Given the description of an element on the screen output the (x, y) to click on. 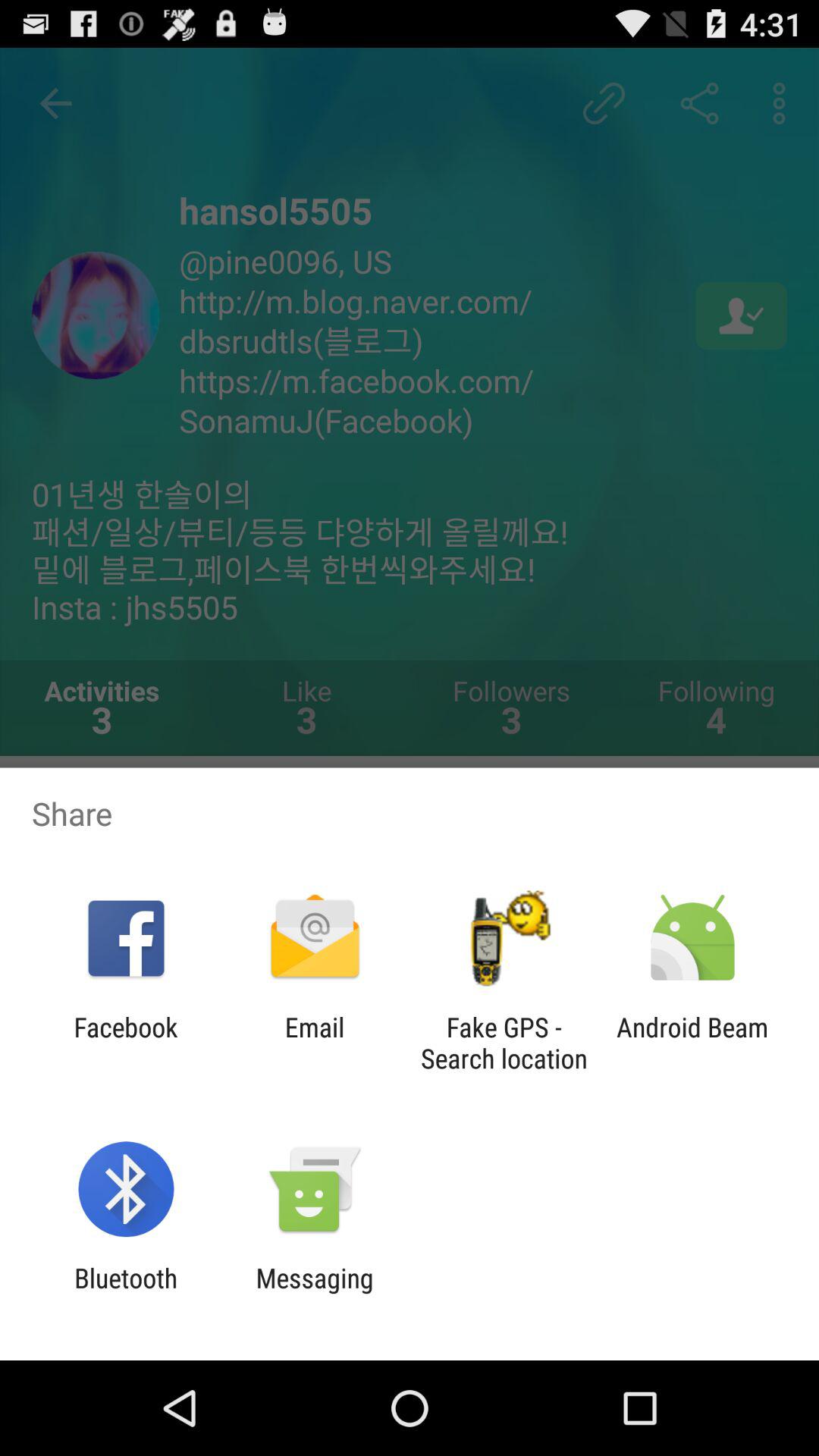
tap app next to facebook app (314, 1042)
